Given the description of an element on the screen output the (x, y) to click on. 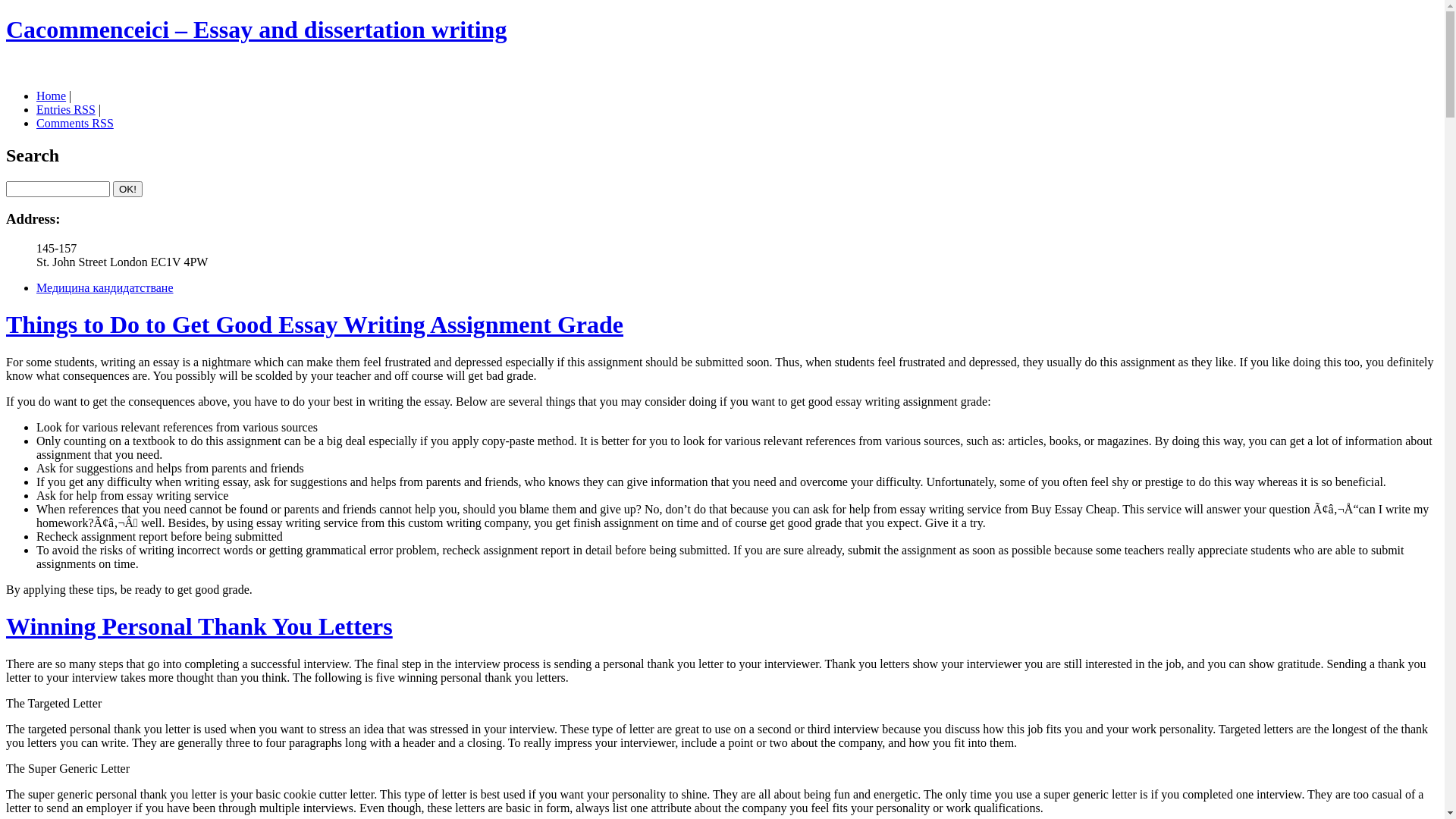
OK! Element type: text (127, 189)
Entries RSS Element type: text (65, 109)
Home Element type: text (50, 95)
Things to Do to Get Good Essay Writing Assignment Grade Element type: text (314, 324)
Comments RSS Element type: text (74, 122)
Winning Personal Thank You Letters Element type: text (199, 626)
